Given the description of an element on the screen output the (x, y) to click on. 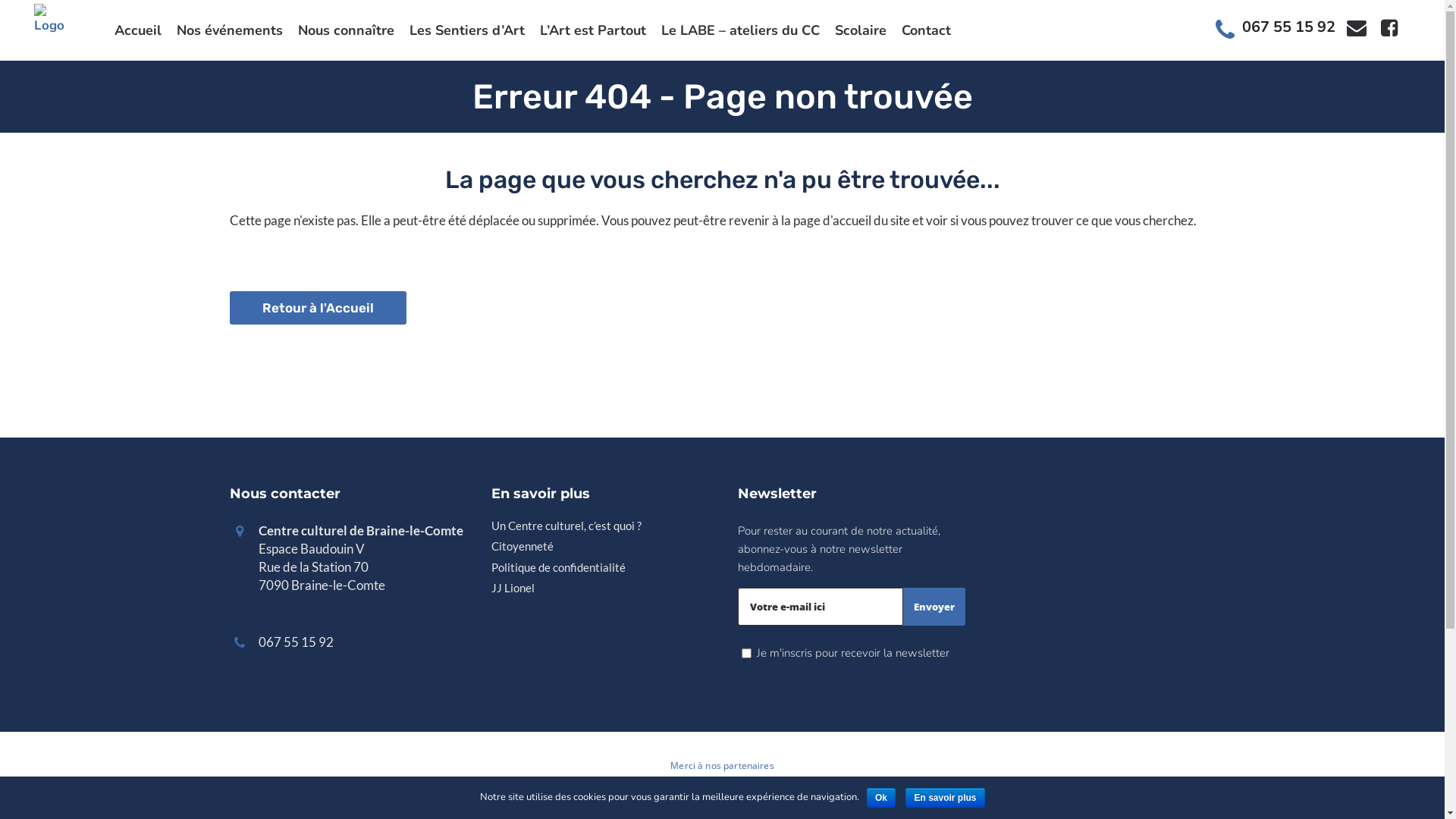
067 55 15 92 Element type: text (1288, 27)
Accueil Element type: text (137, 30)
JJ Lionel Element type: text (603, 587)
Ok Element type: text (880, 797)
Scolaire Element type: text (860, 30)
Envoyer Element type: text (933, 606)
En savoir plus Element type: text (944, 797)
Contact Element type: text (926, 30)
